Given the description of an element on the screen output the (x, y) to click on. 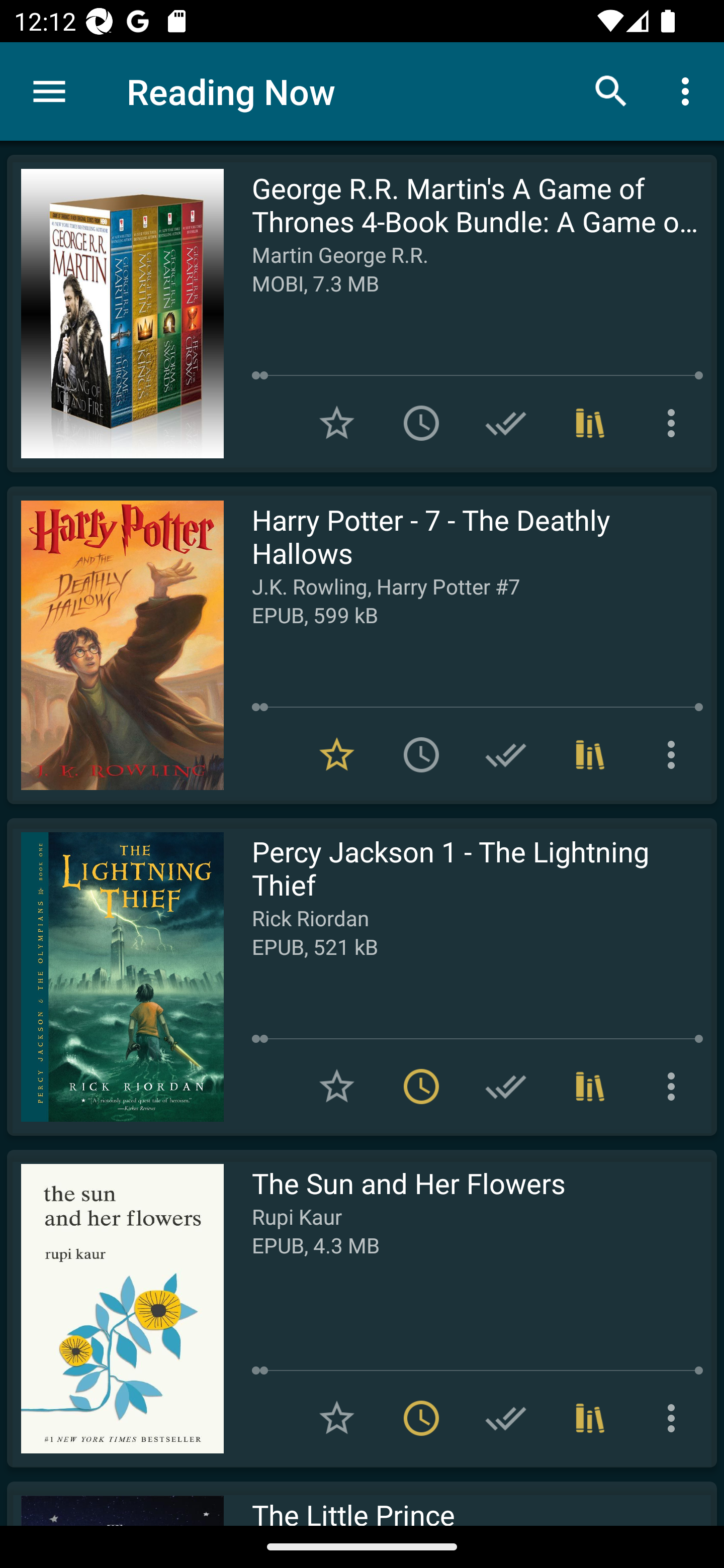
Menu (49, 91)
Search books & documents (611, 90)
More options (688, 90)
Add to Favorites (336, 423)
Add to To read (421, 423)
Add to Have read (505, 423)
Collections (1) (590, 423)
More options (674, 423)
Read Harry Potter - 7 - The Deathly Hallows (115, 645)
Remove from Favorites (336, 753)
Add to To read (421, 753)
Add to Have read (505, 753)
Collections (1) (590, 753)
More options (674, 753)
Read Percy Jackson 1 - The Lightning Thief (115, 976)
Add to Favorites (336, 1086)
Remove from To read (421, 1086)
Add to Have read (505, 1086)
Collections (1) (590, 1086)
More options (674, 1086)
Read The Sun and Her Flowers (115, 1308)
Add to Favorites (336, 1417)
Remove from To read (421, 1417)
Add to Have read (505, 1417)
Collections (1) (590, 1417)
More options (674, 1417)
